Given the description of an element on the screen output the (x, y) to click on. 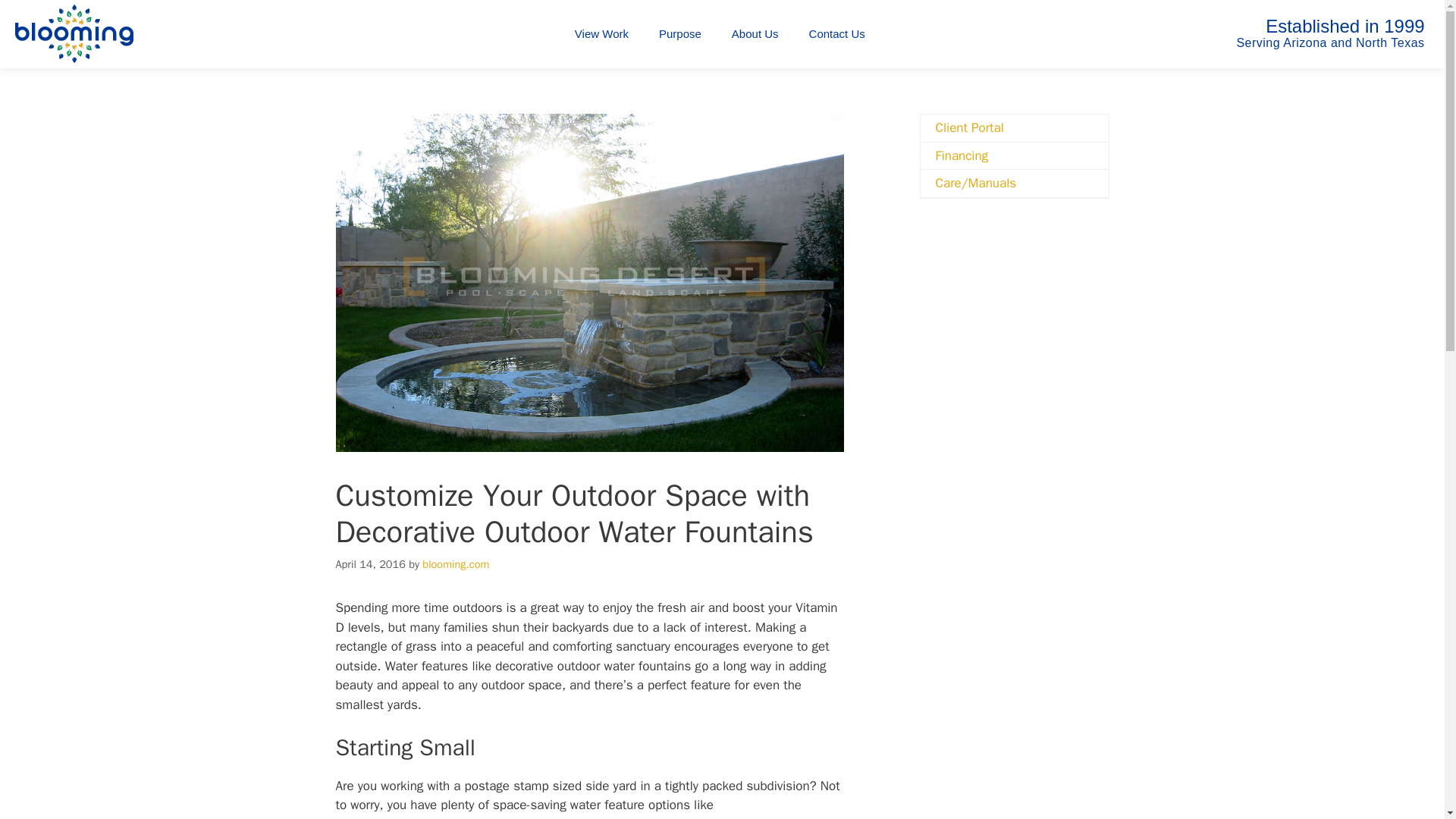
Purpose (679, 34)
About Us (754, 34)
View all posts by blooming.com (455, 563)
Client Portal (1014, 127)
Financing (1014, 155)
View Work (601, 34)
blooming.com (455, 563)
Contact Us (836, 34)
